Given the description of an element on the screen output the (x, y) to click on. 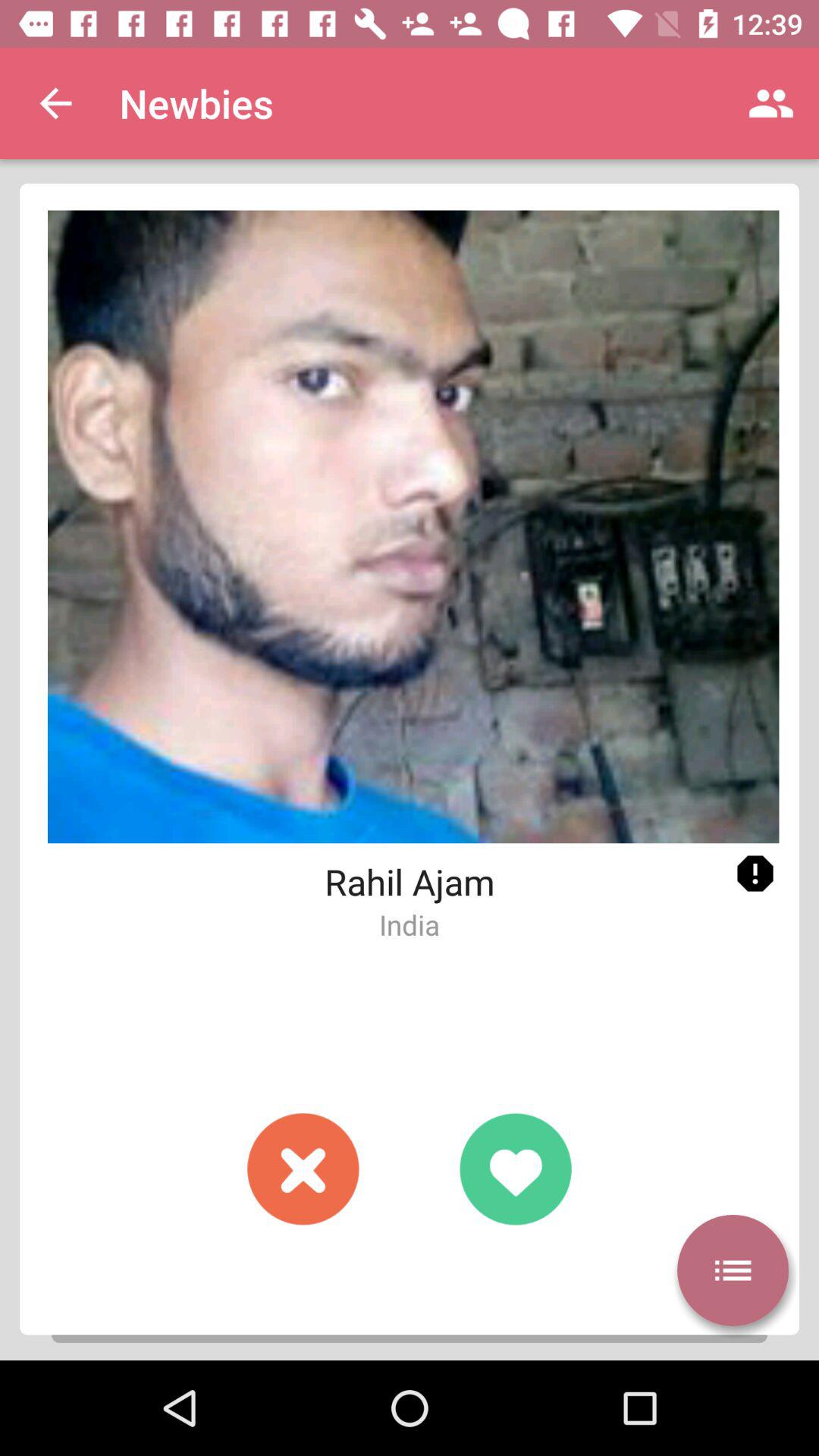
heart reaction (515, 1169)
